Given the description of an element on the screen output the (x, y) to click on. 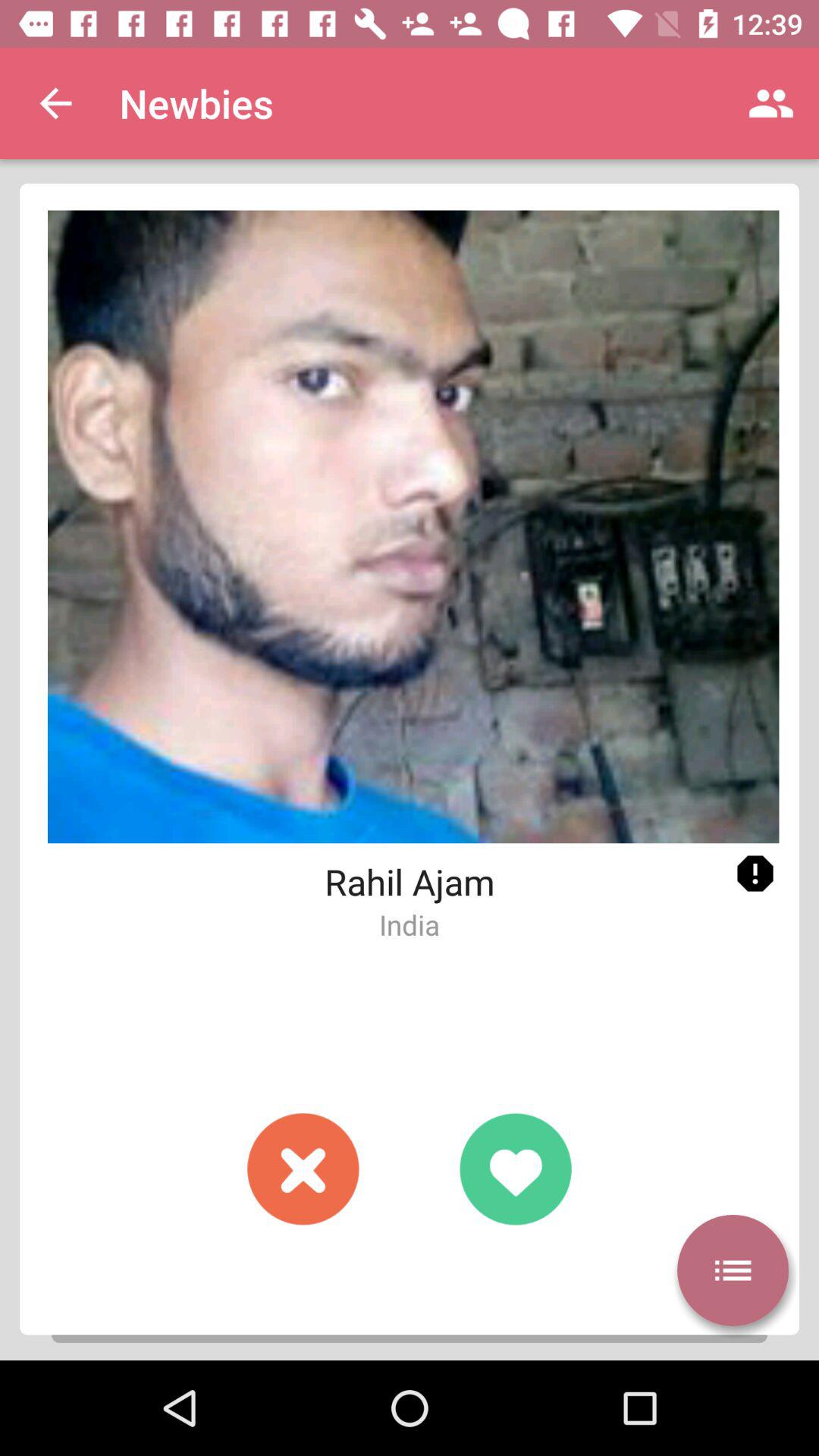
heart reaction (515, 1169)
